Given the description of an element on the screen output the (x, y) to click on. 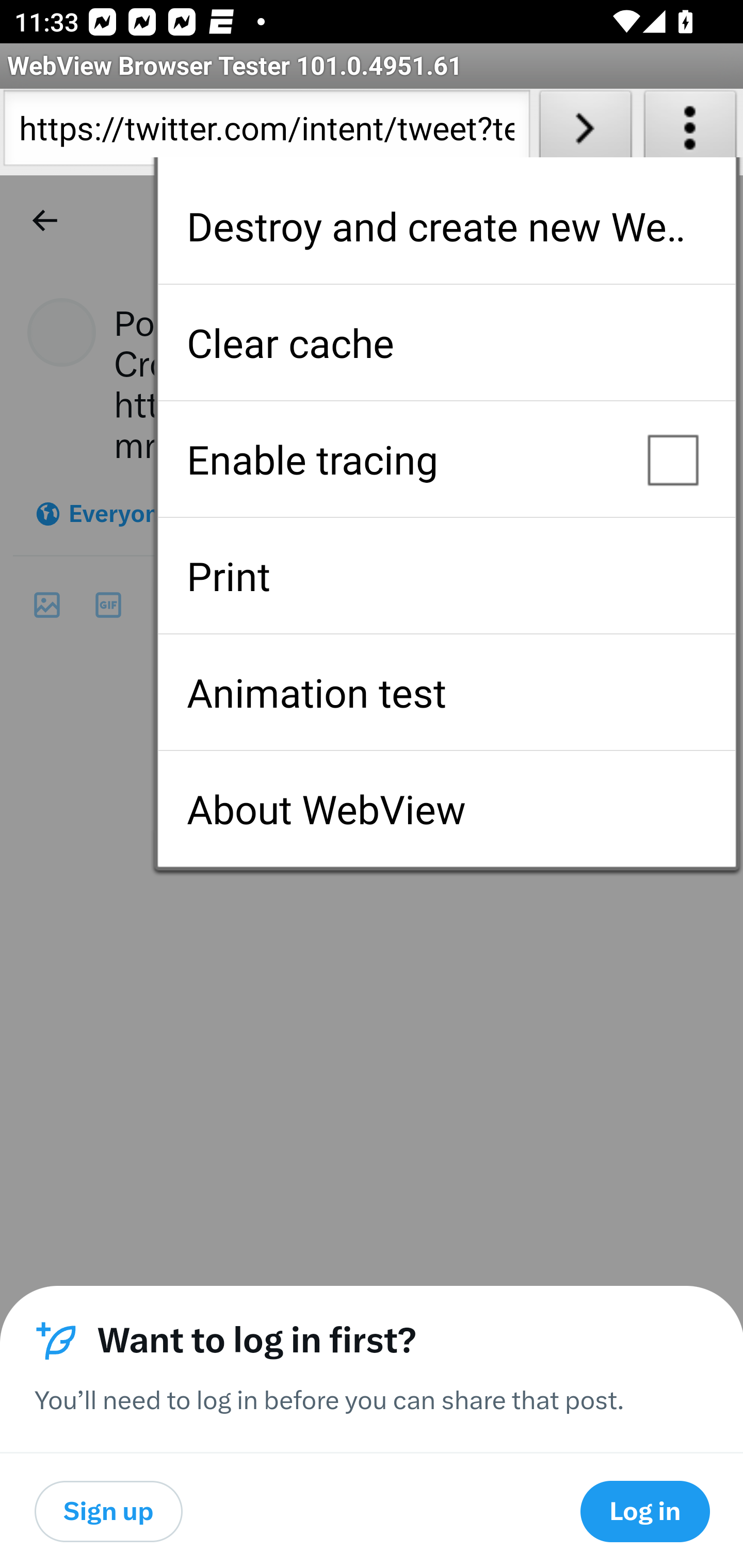
Destroy and create new WebView (446, 225)
Clear cache (446, 342)
Enable tracing (446, 459)
Print (446, 575)
Animation test (446, 692)
About WebView (446, 809)
